Given the description of an element on the screen output the (x, y) to click on. 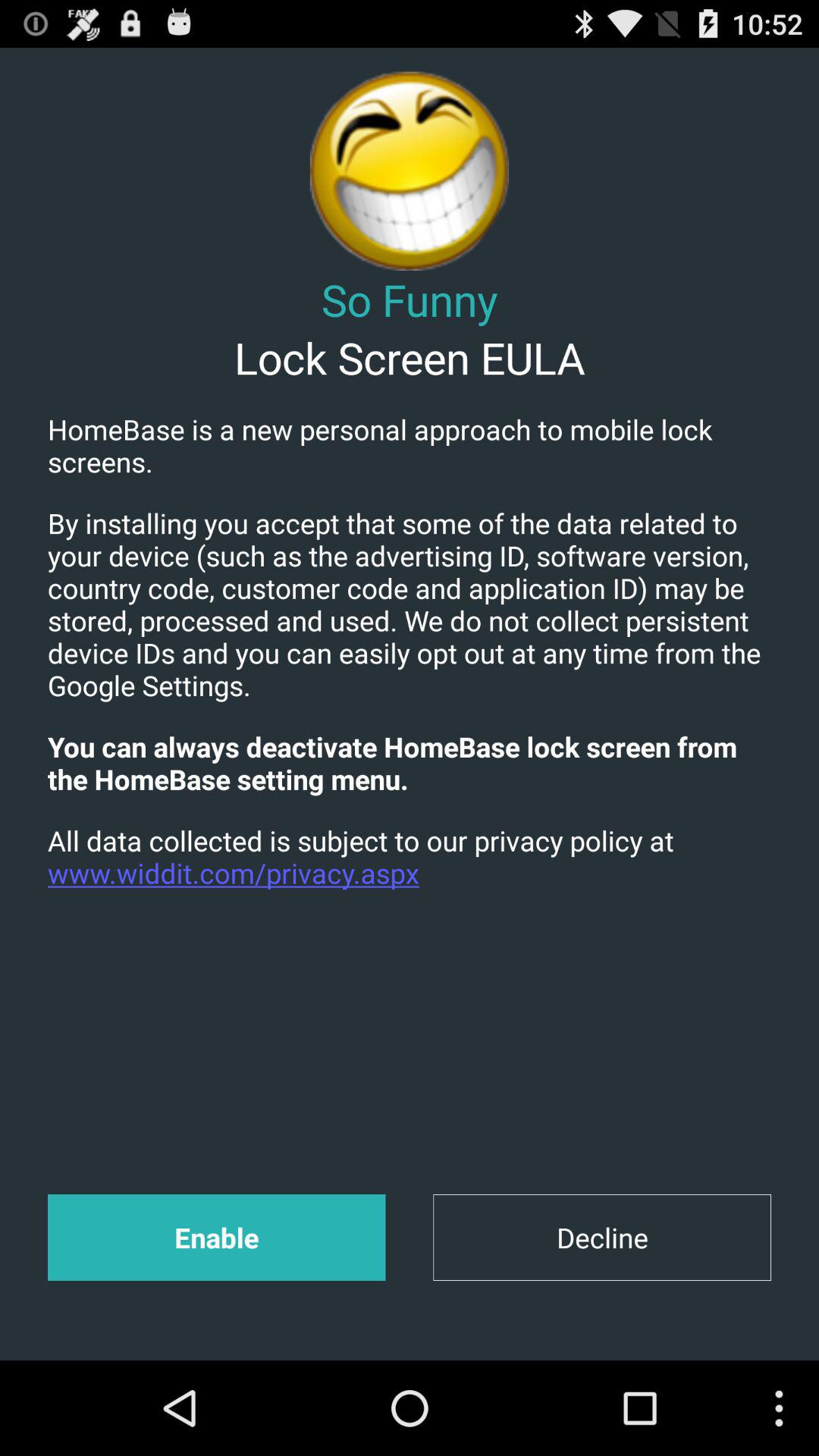
tap item at the bottom right corner (601, 1237)
